Given the description of an element on the screen output the (x, y) to click on. 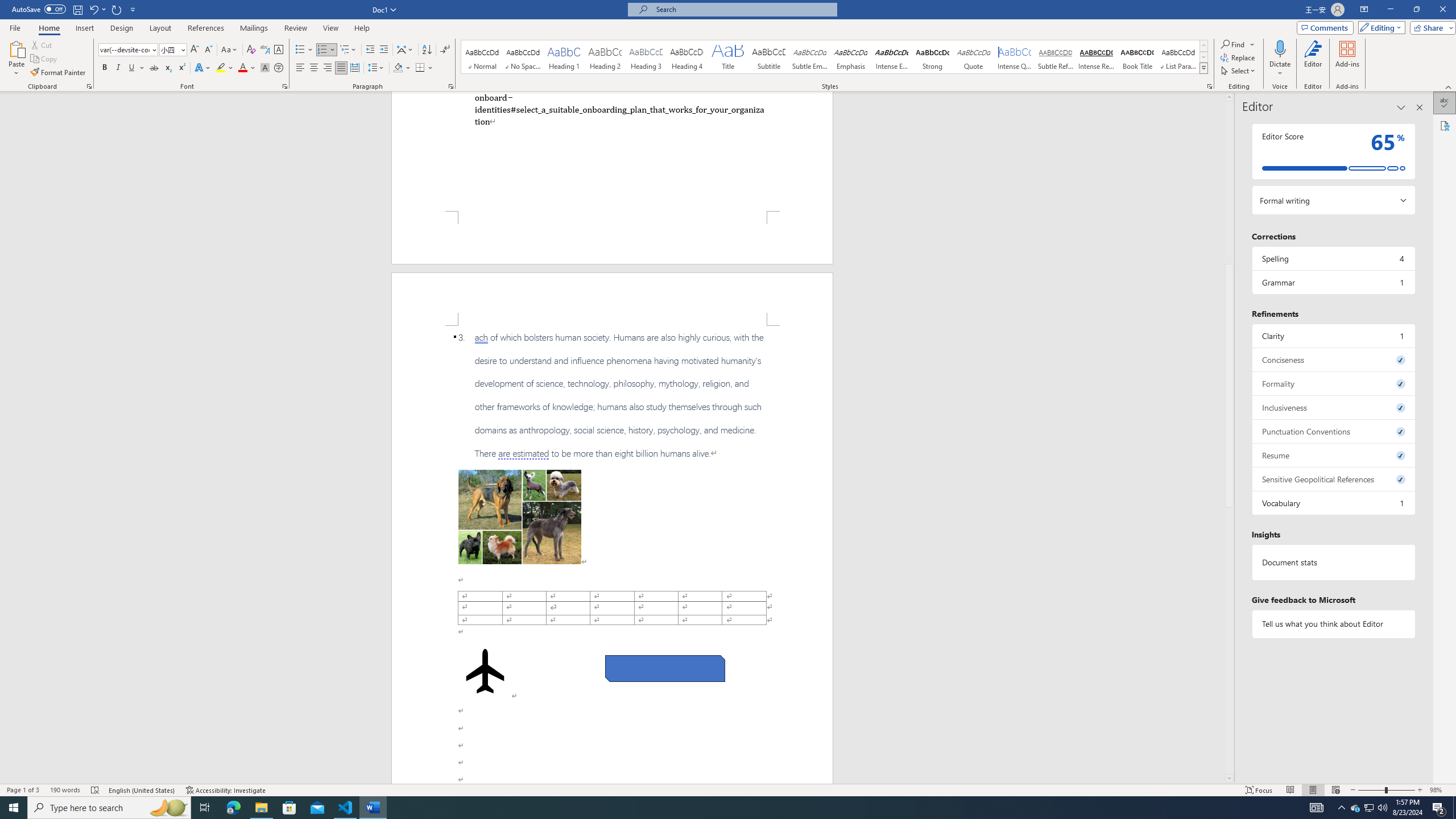
Shading RGB(0, 0, 0) (397, 67)
Emphasis (849, 56)
Styles (1203, 67)
Editor Score 65% (1333, 151)
Insert (83, 28)
Heading 4 (686, 56)
Enclose Characters... (278, 67)
Asian Layout (405, 49)
Format Painter (58, 72)
Footer -Section 1- (611, 237)
Office Clipboard... (88, 85)
Strong (932, 56)
Grow Font (193, 49)
